Given the description of an element on the screen output the (x, y) to click on. 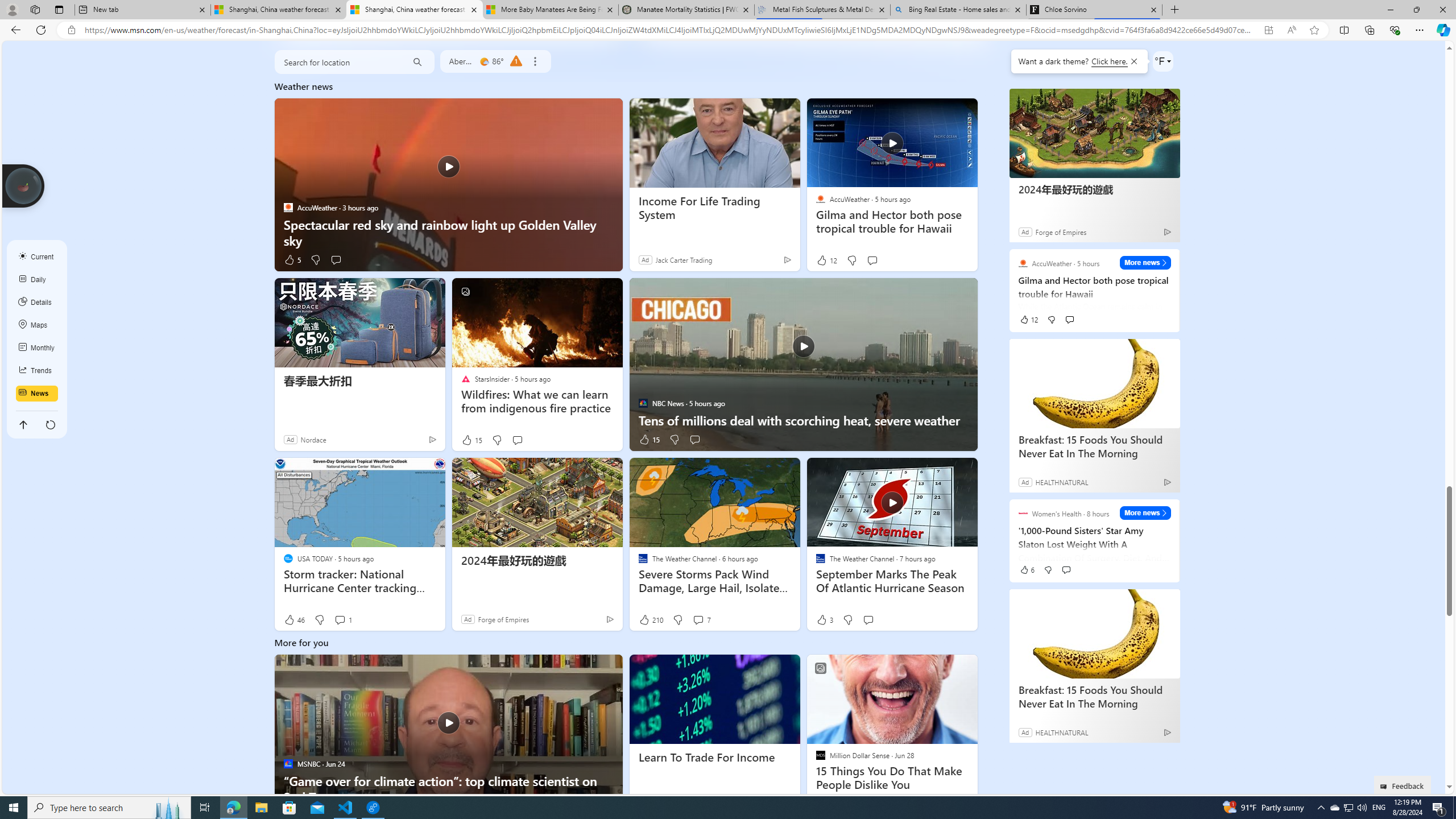
15 Like (648, 438)
Join us in planting real trees to help our planet! (23, 184)
Gilma and Hector both pose tropical trouble for Hawaii (891, 142)
Tens of millions deal with scorching heat, severe weather (802, 419)
Weather settings (1162, 61)
Bing Real Estate - Home sales and rental listings (957, 9)
